Given the description of an element on the screen output the (x, y) to click on. 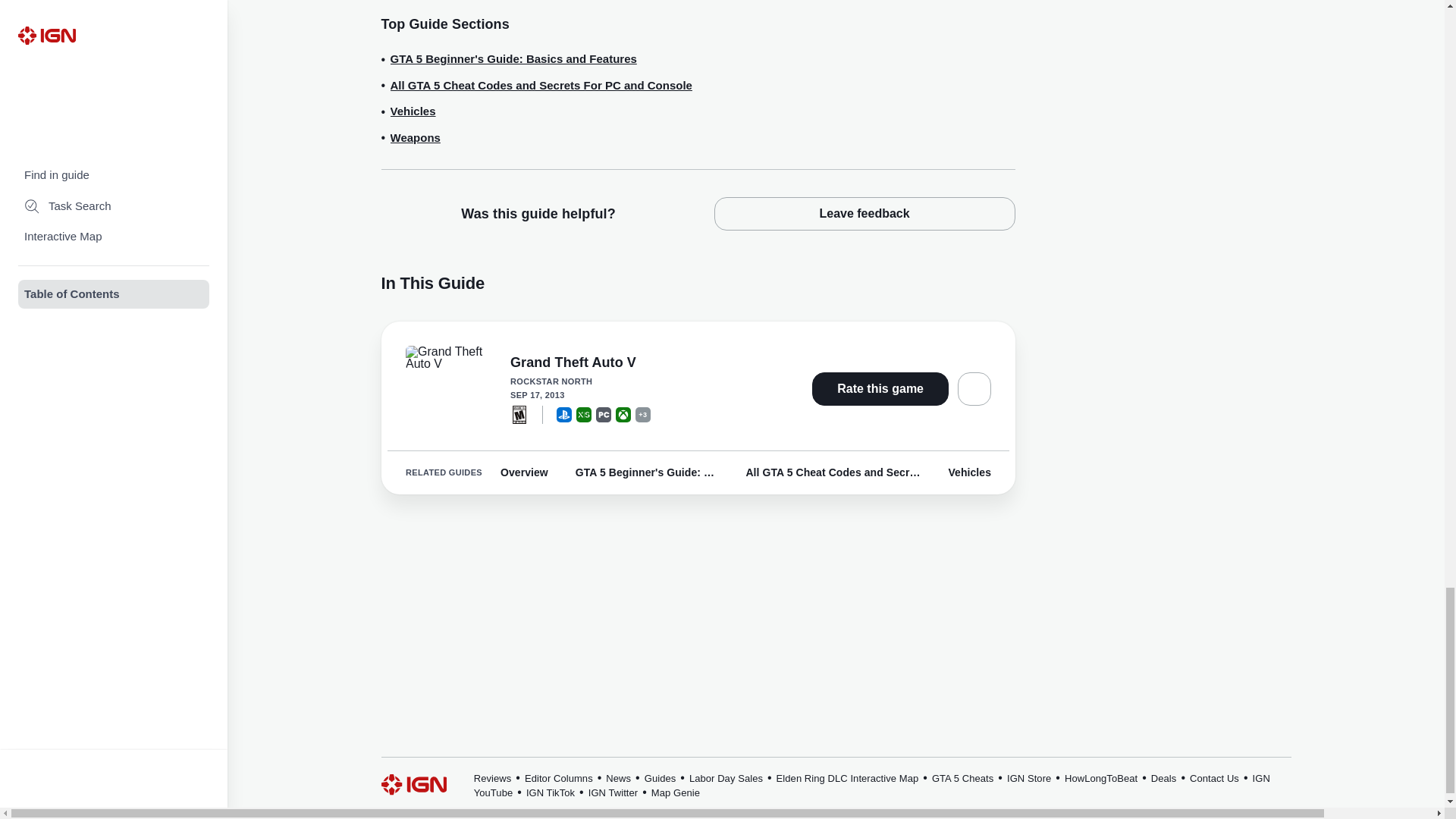
ESRB: Mature (518, 414)
Xbox One (622, 414)
PC (603, 414)
PlayStation 5 (564, 414)
